Given the description of an element on the screen output the (x, y) to click on. 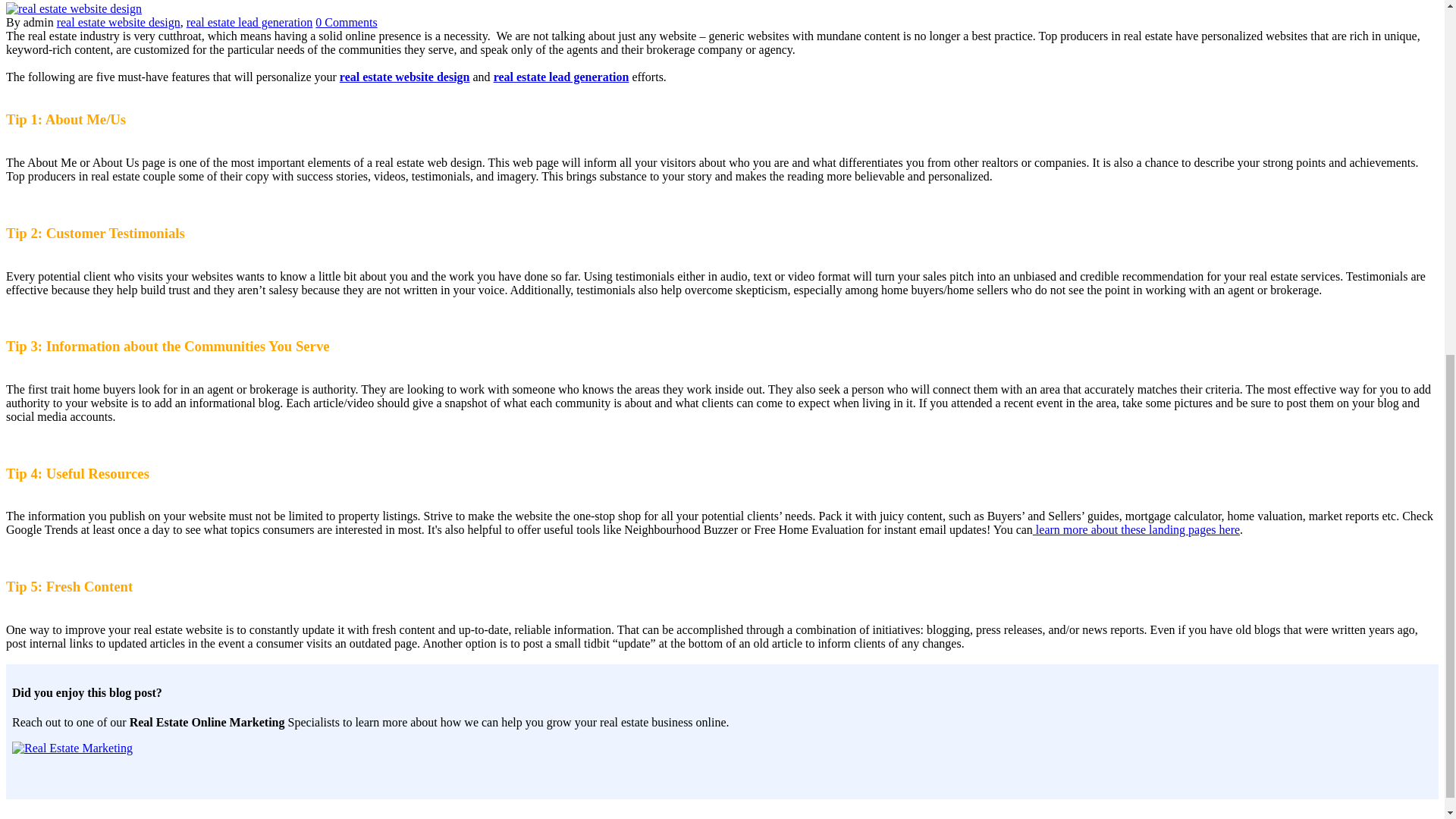
real estate lead generation (249, 21)
0 Comments (346, 21)
real estate website design (118, 21)
